Given the description of an element on the screen output the (x, y) to click on. 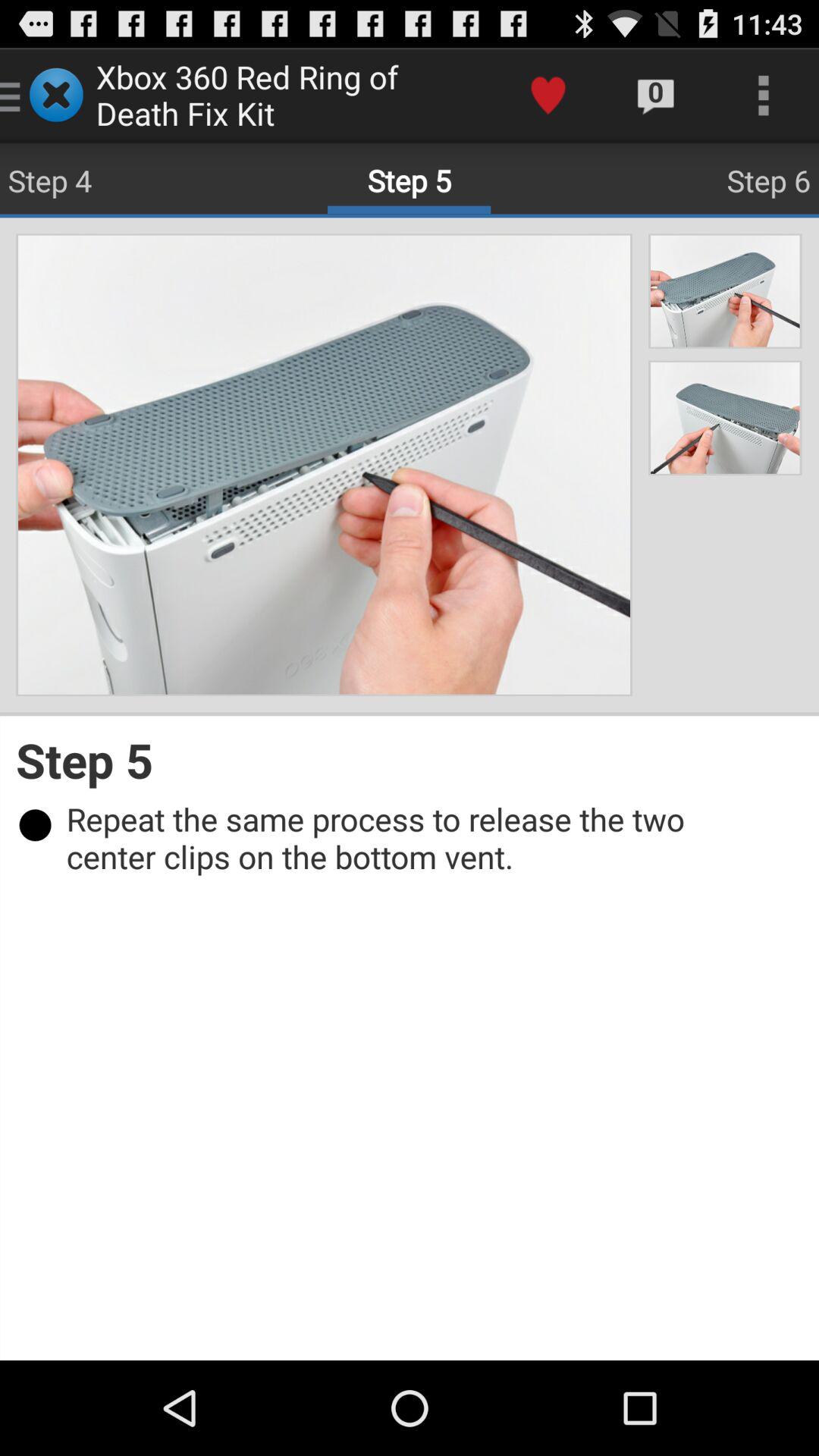
jump to repeat the same item (417, 837)
